Given the description of an element on the screen output the (x, y) to click on. 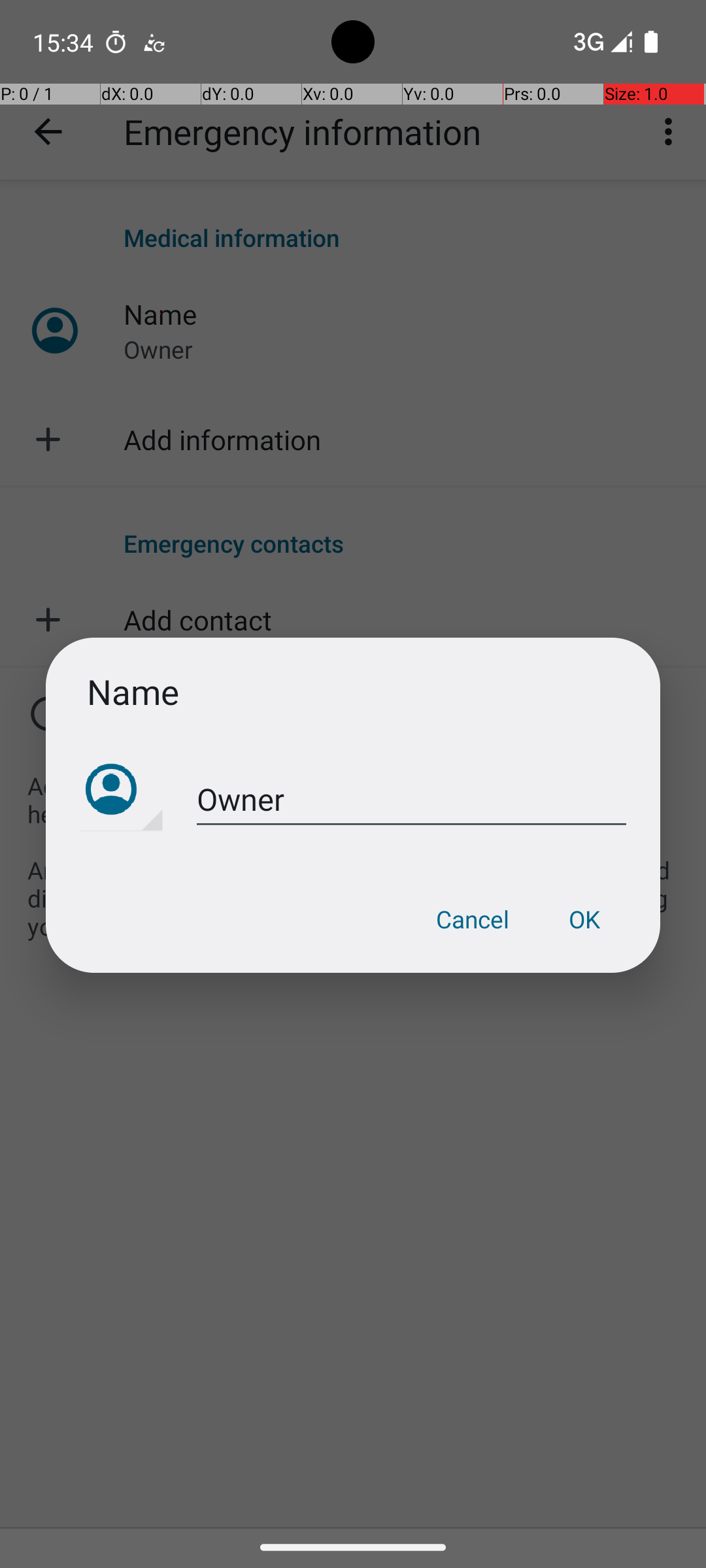
Select photo Element type: android.widget.ImageView (121, 790)
Owner Element type: android.widget.EditText (411, 799)
